Given the description of an element on the screen output the (x, y) to click on. 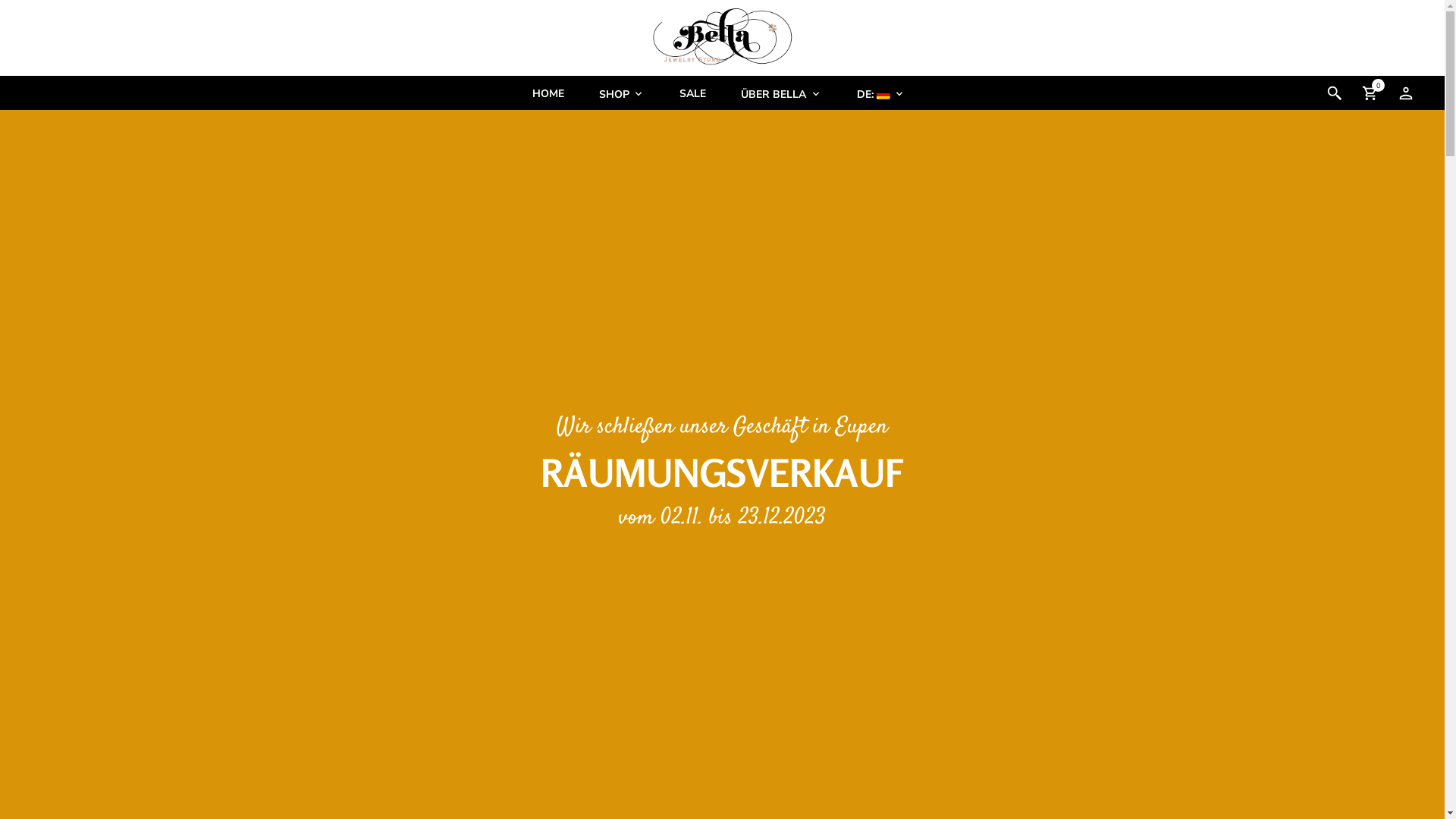
DE:  Element type: text (881, 94)
SALE Element type: text (692, 93)
0 Element type: text (1370, 92)
HOME Element type: text (547, 93)
SHOP Element type: text (621, 94)
